Given the description of an element on the screen output the (x, y) to click on. 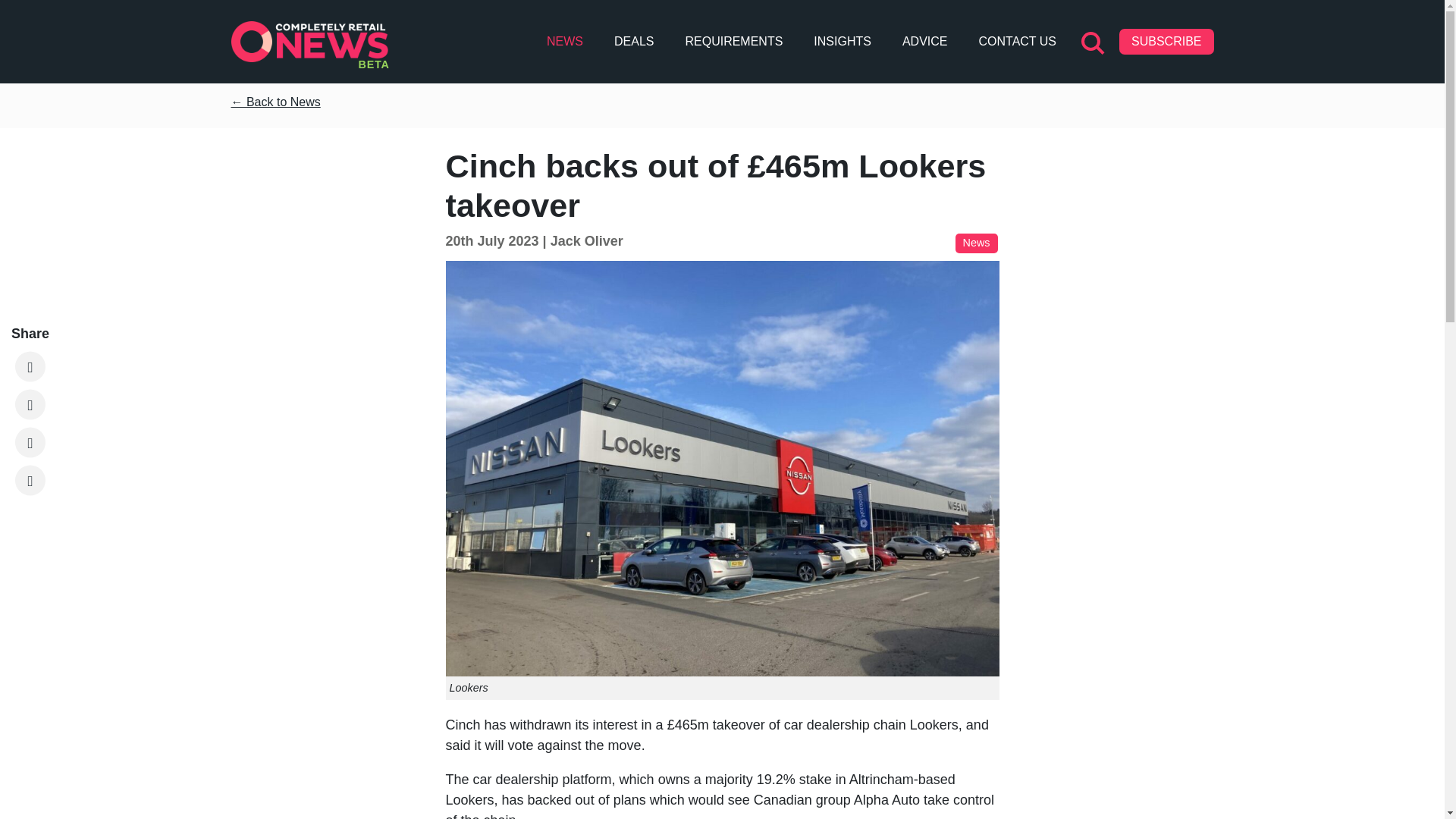
REQUIREMENTS (733, 41)
NEWS (564, 41)
DEALS (633, 41)
ADVICE (924, 41)
SUBSCRIBE (1165, 41)
CONTACT US (1017, 41)
News (976, 243)
INSIGHTS (842, 41)
